Given the description of an element on the screen output the (x, y) to click on. 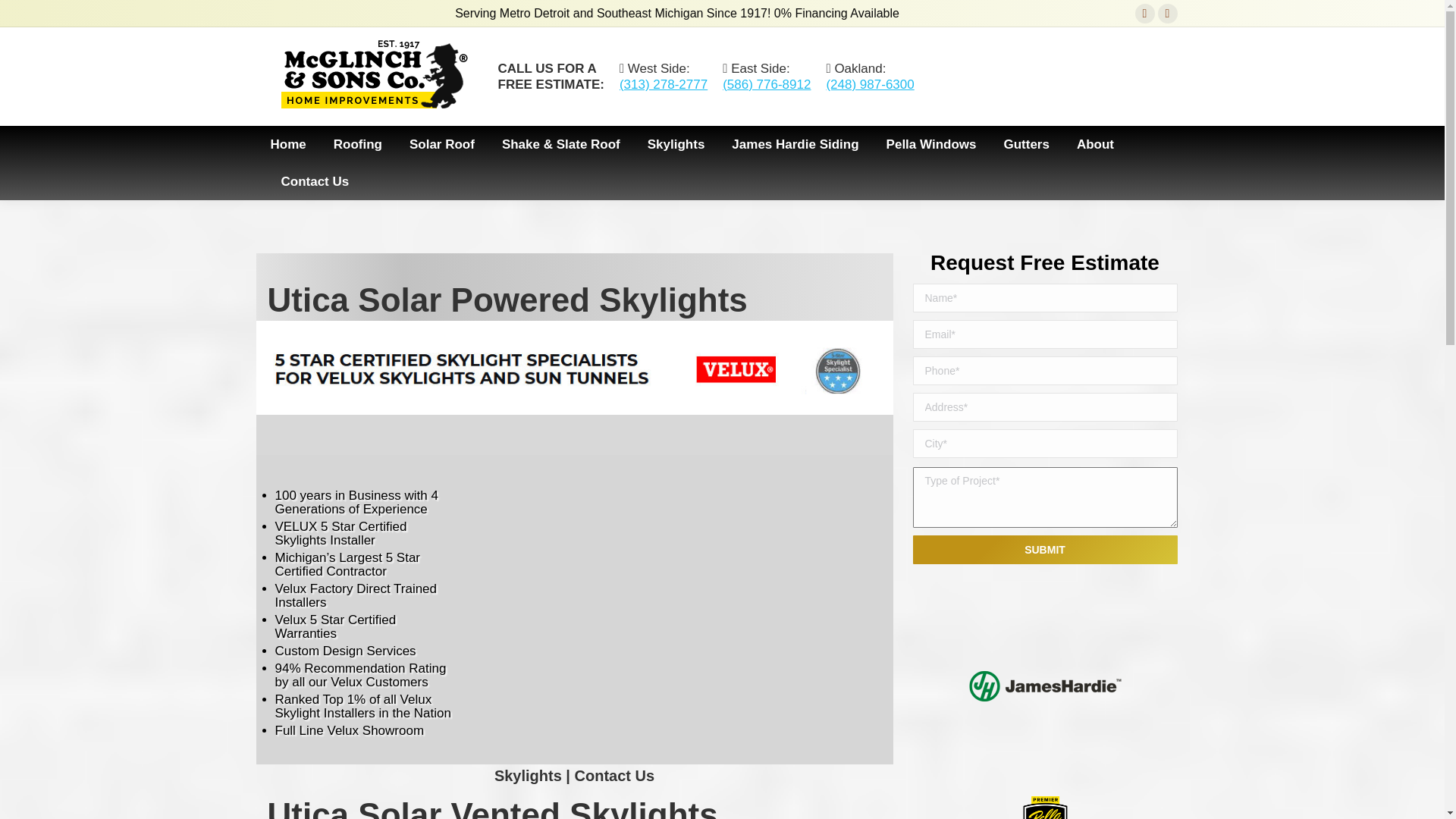
Pella Windows (931, 144)
SUBMIT (1044, 549)
Home (287, 144)
Facebook page opens in new window (1144, 13)
Skylights (676, 144)
About (1095, 144)
Solar Roof (441, 144)
Twitter page opens in new window (1167, 13)
Twitter page opens in new window (1167, 13)
James Hardie Siding (795, 144)
Roofing (357, 144)
Facebook page opens in new window (1144, 13)
Contact Us (315, 181)
Gutters (1025, 144)
